Given the description of an element on the screen output the (x, y) to click on. 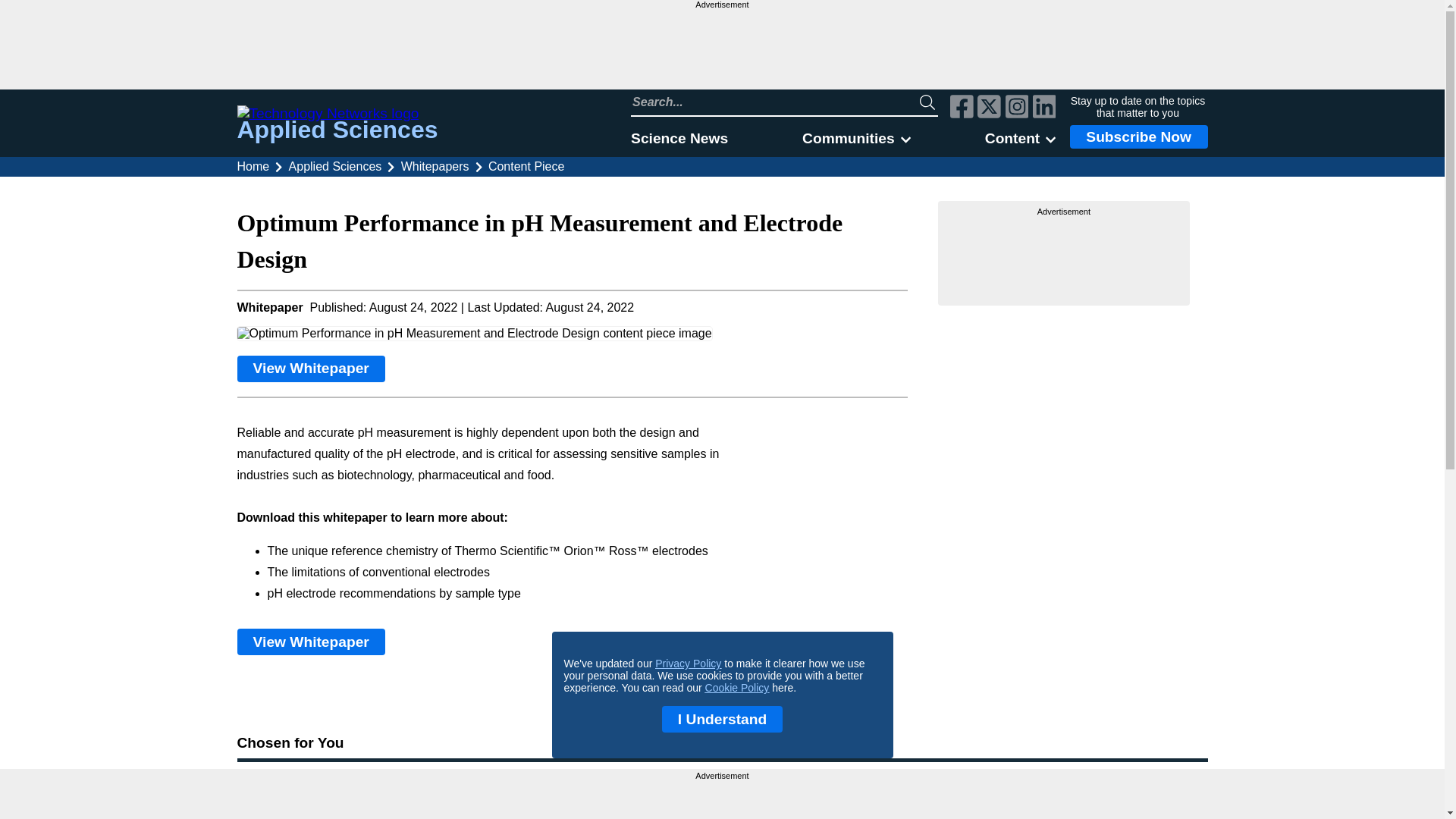
Privacy Policy (687, 663)
Search Technology Networks website input field (775, 102)
Cookie Policy (737, 687)
Technology Networks logo (336, 113)
I Understand (722, 718)
